Given the description of an element on the screen output the (x, y) to click on. 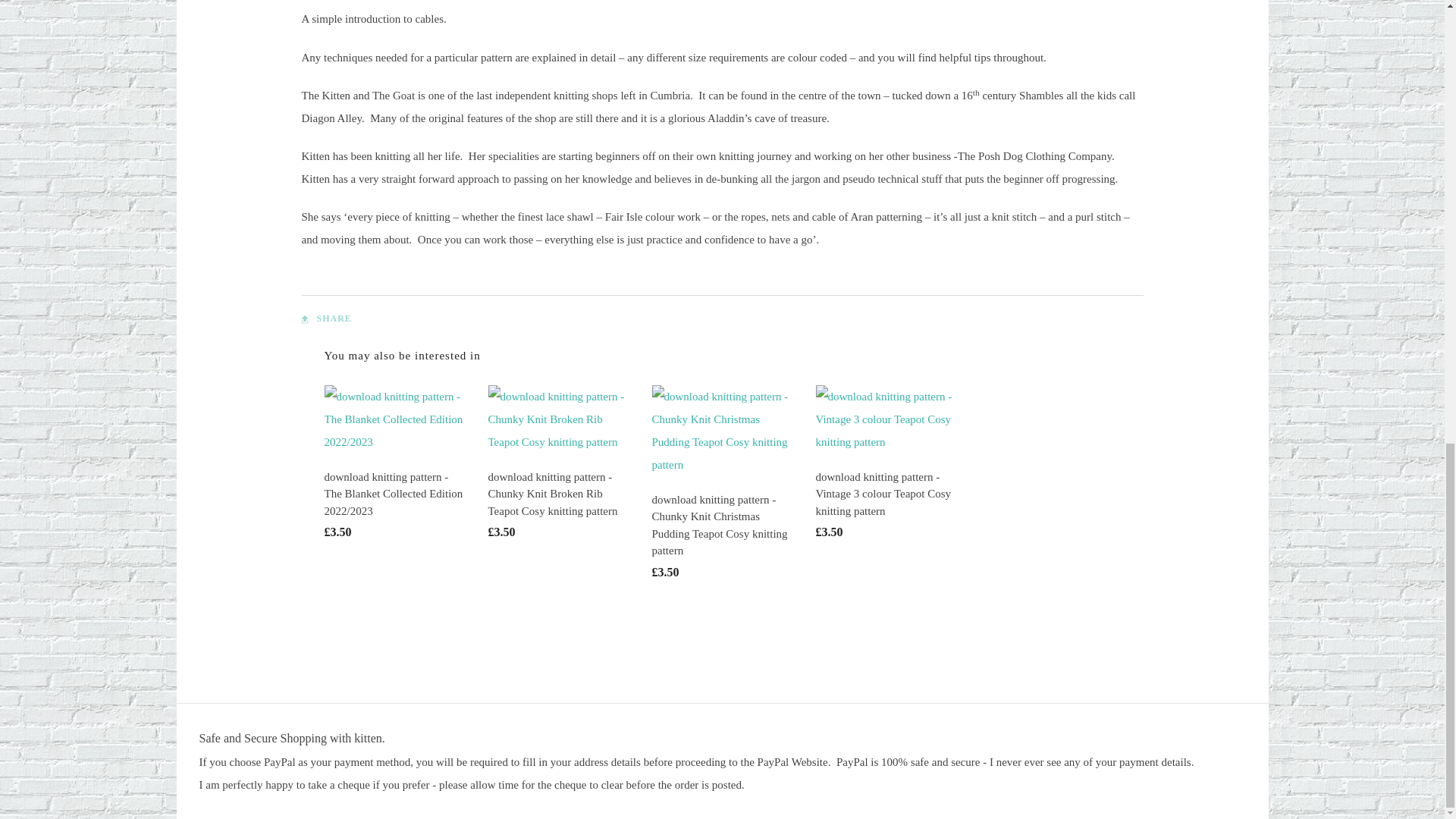
SHARE (326, 318)
